Given the description of an element on the screen output the (x, y) to click on. 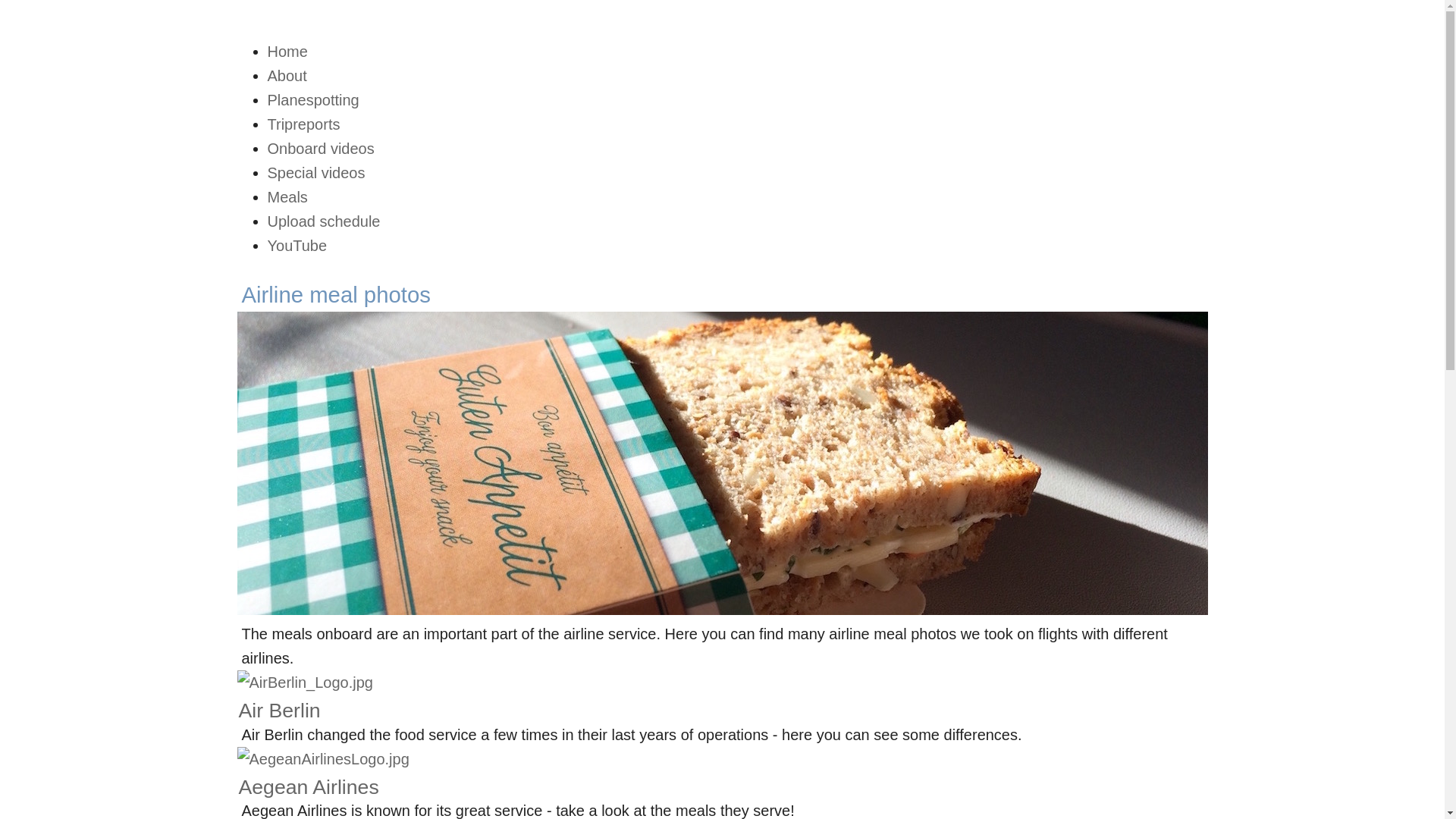
YouTube (296, 245)
Meals (286, 197)
Planespotting (312, 99)
Meals (286, 197)
YouTube (296, 245)
About (285, 75)
Upload schedule (323, 221)
Onboard videos (320, 148)
Tripreports (302, 124)
Aegean Airlines (308, 786)
Planespotting (312, 99)
Upload schedule (323, 221)
Home (286, 51)
Air Berlin (279, 710)
Onboard videos (320, 148)
